Given the description of an element on the screen output the (x, y) to click on. 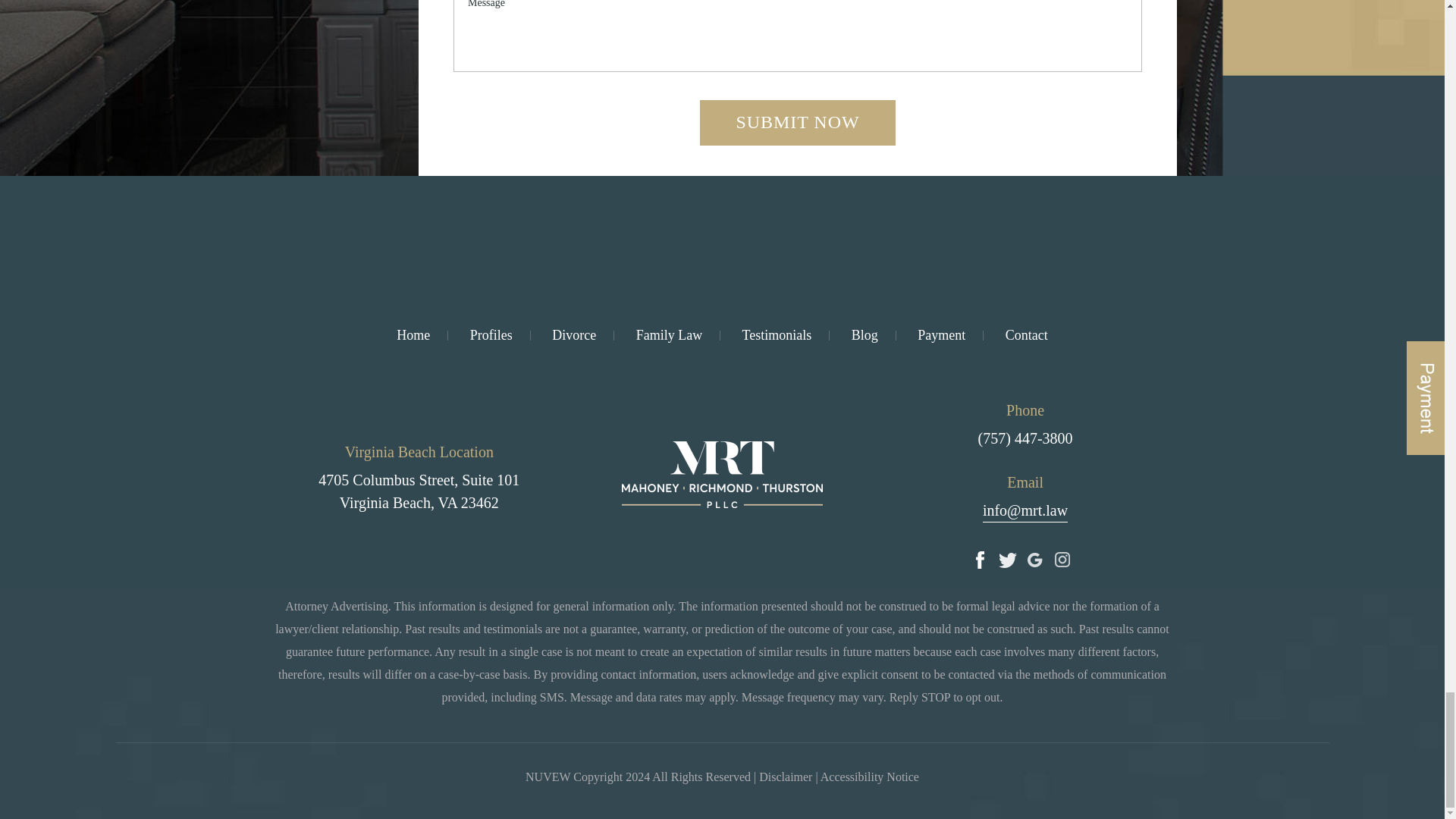
Submit Now (797, 122)
